Given the description of an element on the screen output the (x, y) to click on. 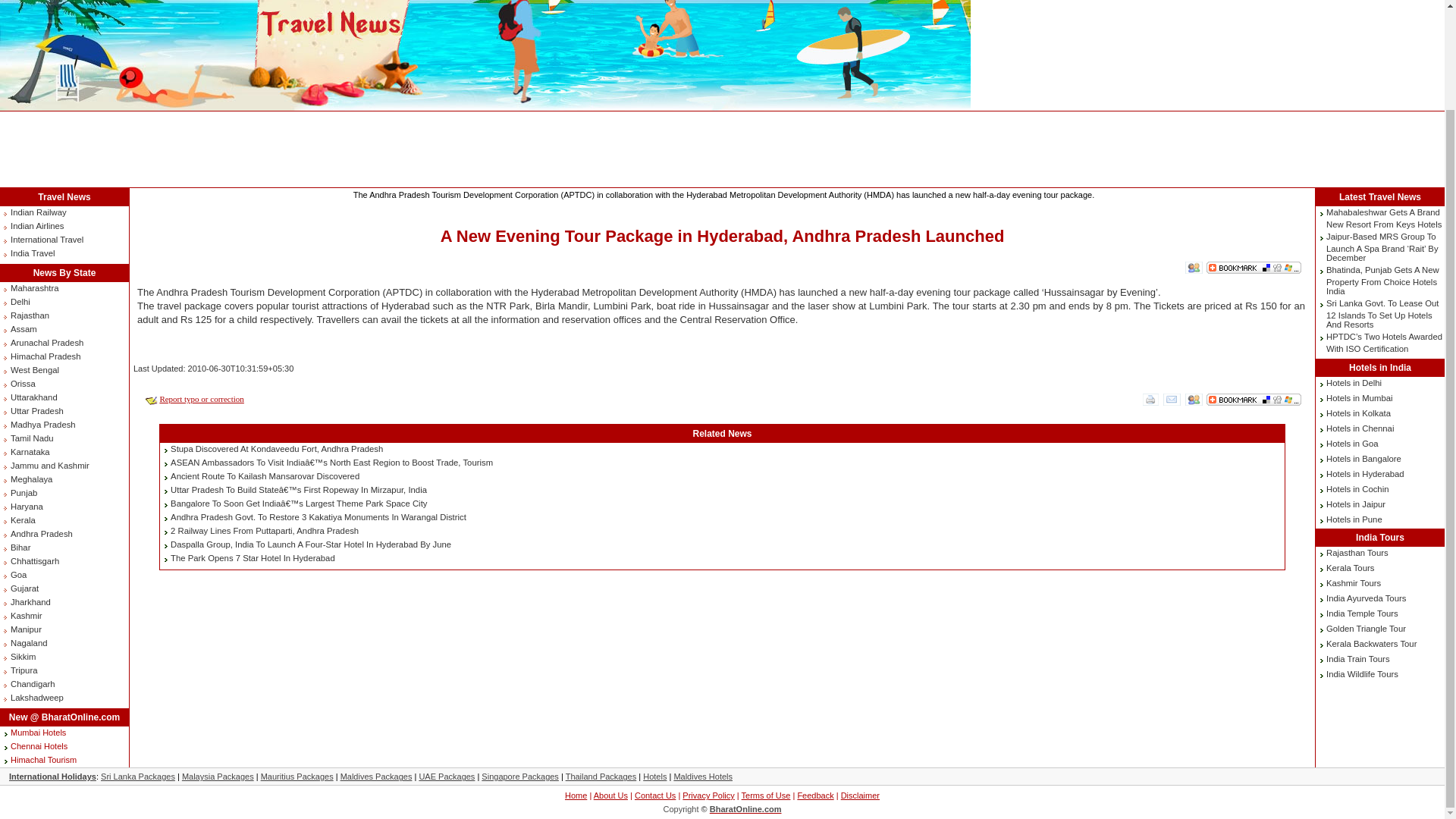
Indian Airlines (37, 225)
Bihar (20, 547)
Rajasthan (29, 315)
Madhya Pradesh (42, 424)
West Bengal (34, 369)
Goa (18, 574)
Kerala (22, 519)
Punjab (23, 492)
International Travel (46, 239)
Meghalaya (31, 479)
